Given the description of an element on the screen output the (x, y) to click on. 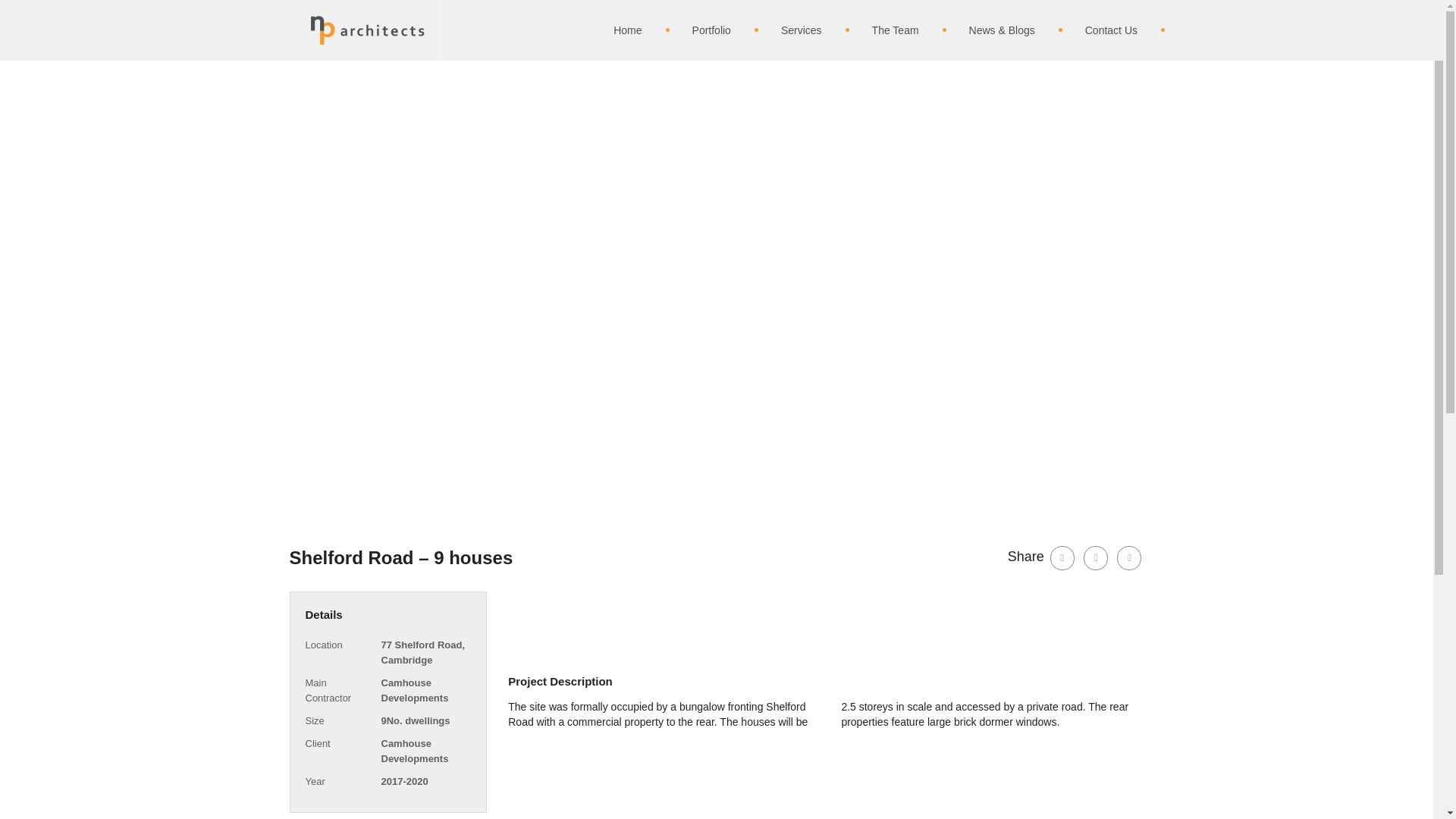
Portfolio (697, 30)
NPA (368, 30)
Services (788, 30)
Home (614, 30)
Contact Us (1098, 30)
The Team (882, 30)
